Given the description of an element on the screen output the (x, y) to click on. 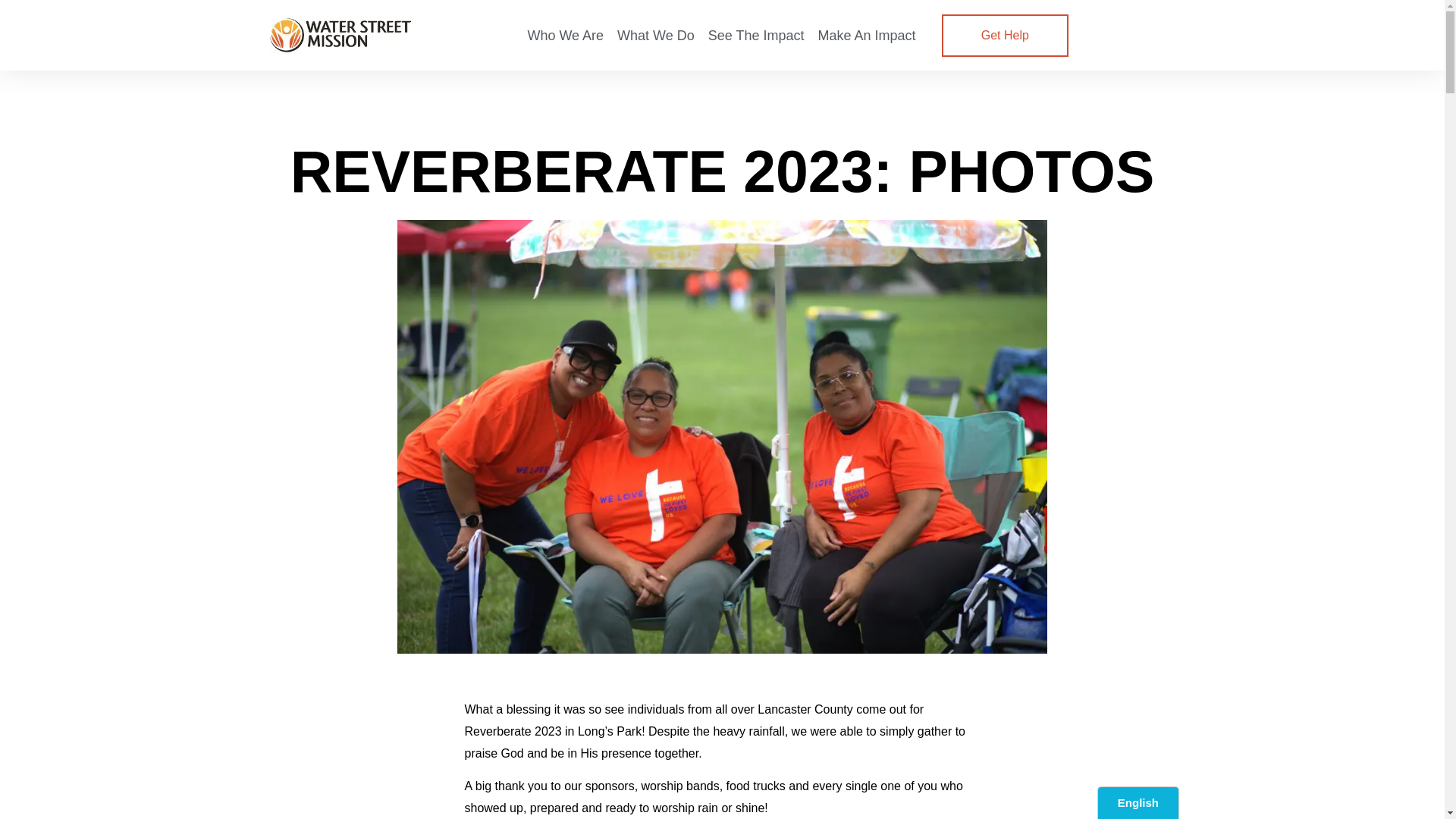
See The Impact (755, 35)
Make An Impact (866, 35)
What We Do (655, 35)
Change Language (1138, 802)
Who We Are (564, 35)
